Given the description of an element on the screen output the (x, y) to click on. 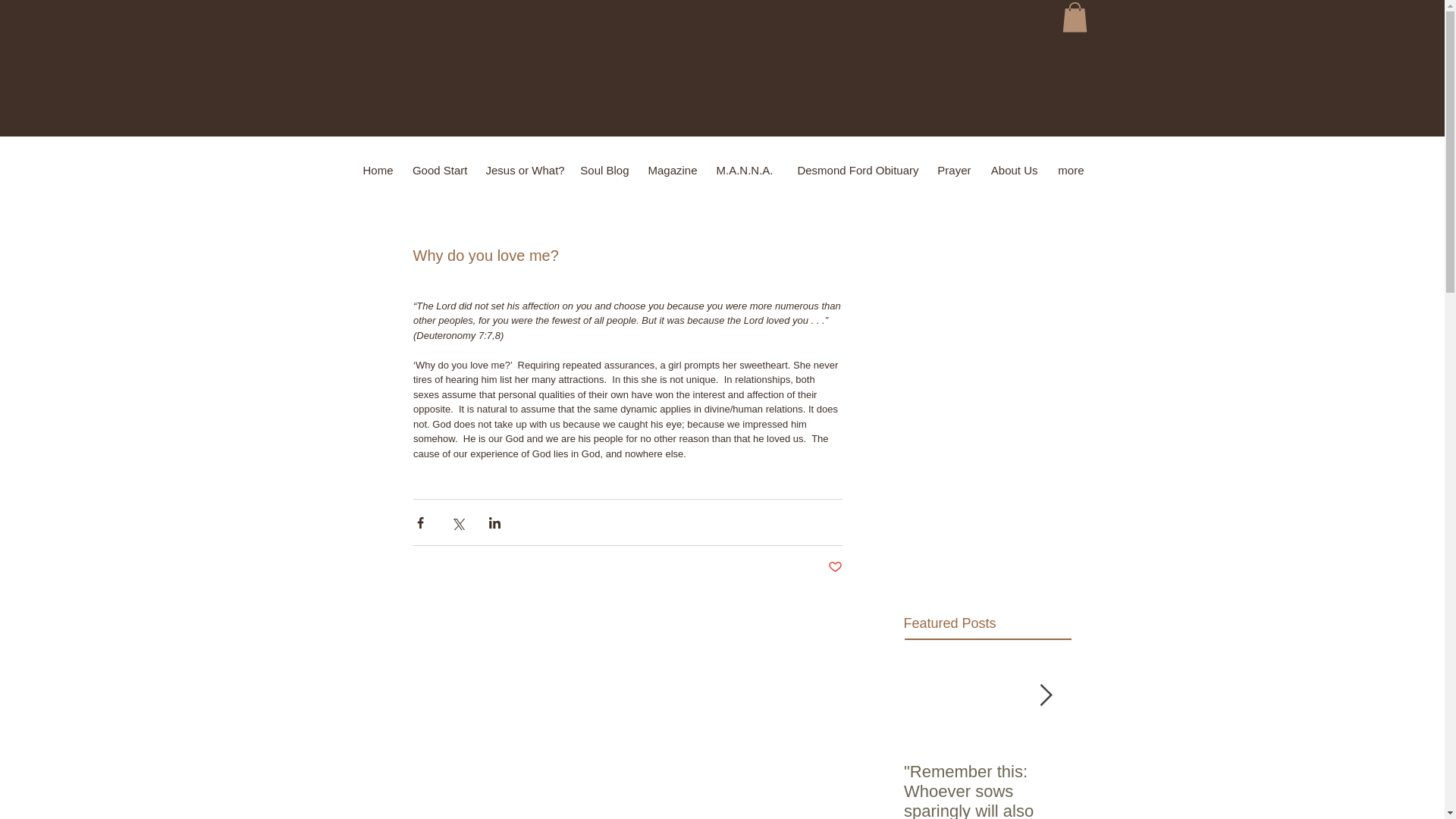
Post not marked as liked (835, 567)
M.A.N.N.A. (744, 169)
Good Start (438, 169)
Soul Blog (603, 169)
Home (376, 169)
About Us (1012, 169)
Jesus or What? (523, 169)
Desmond Ford Obituary (855, 169)
Prayer (953, 169)
